Given the description of an element on the screen output the (x, y) to click on. 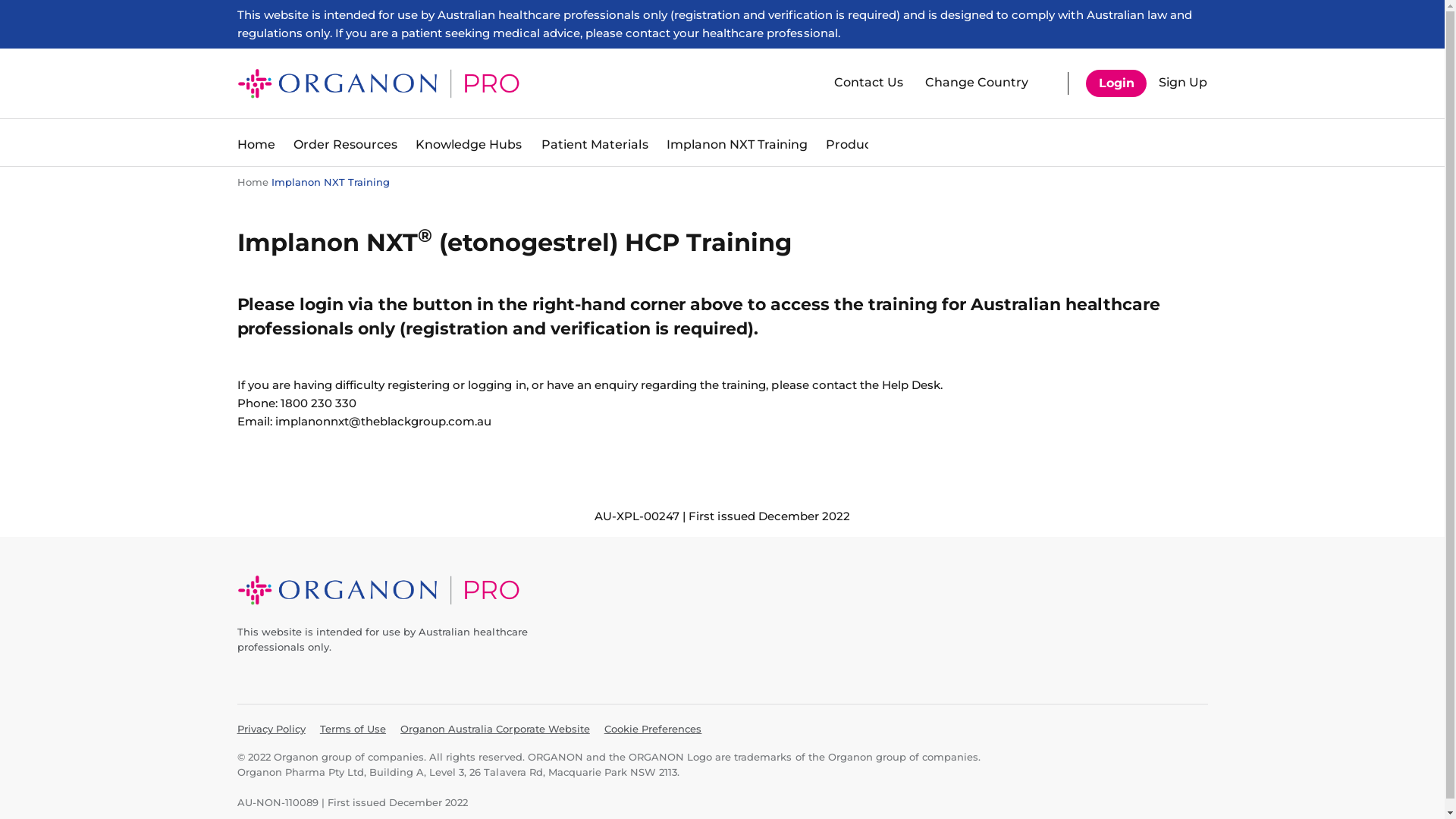
Organon Australia Corporate Website Element type: text (494, 729)
Products Element type: text (853, 144)
Terms of Use Element type: text (352, 728)
Privacy Policy Element type: text (270, 729)
Sign Up Element type: text (1179, 82)
Login Element type: text (1115, 83)
Home Element type: text (255, 144)
Change Country Element type: text (974, 82)
Cookie Preferences Element type: text (652, 728)
Knowledge Hubs Element type: text (469, 144)
Home Element type: text (251, 181)
Order Resources Element type: text (345, 144)
Patient Materials Element type: text (594, 144)
Contact Us Element type: text (868, 82)
Implanon NXT Training Element type: text (736, 144)
